Given the description of an element on the screen output the (x, y) to click on. 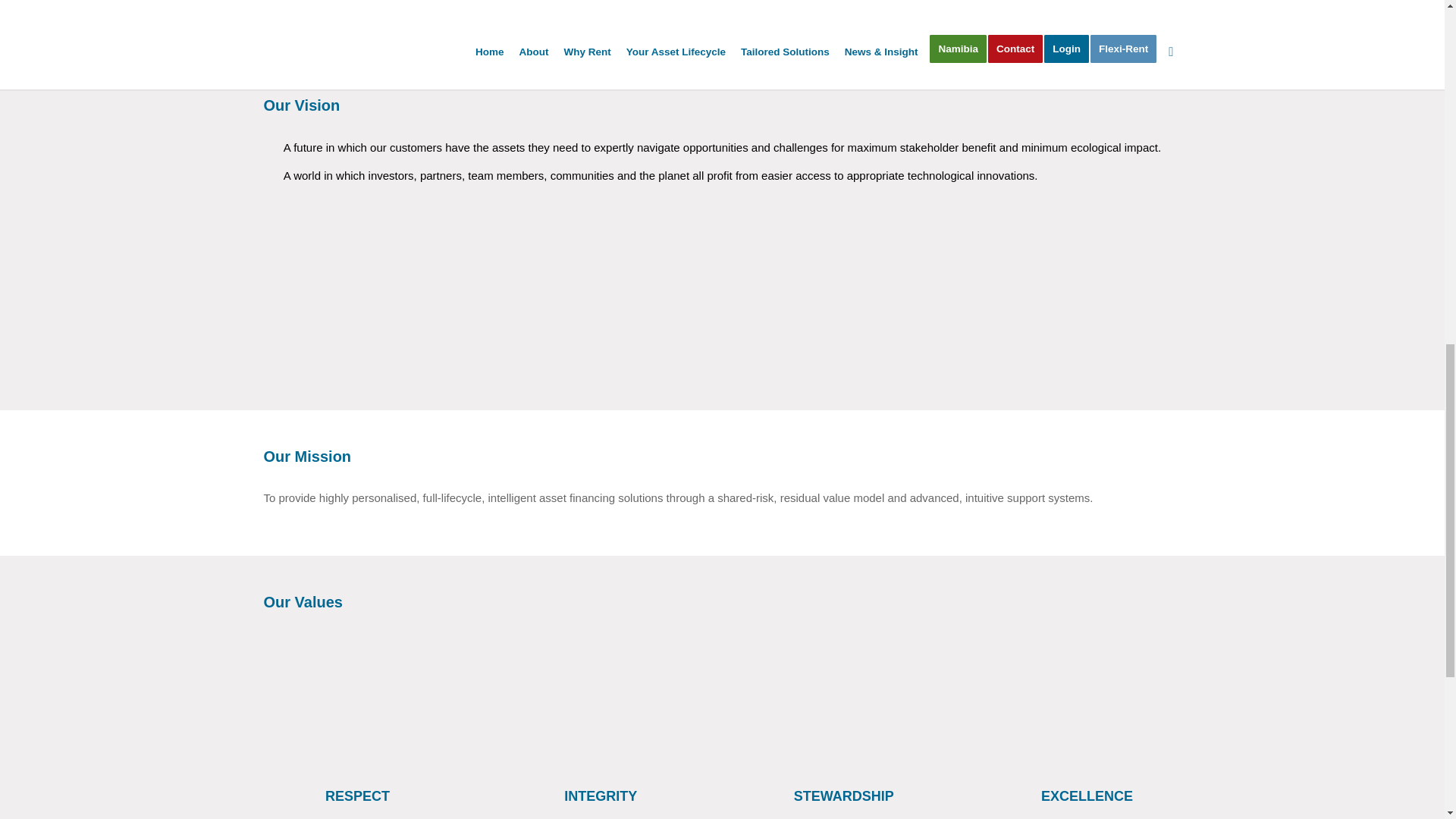
stewardship (843, 699)
integrity (600, 699)
excellence (1086, 699)
respect (357, 699)
